Given the description of an element on the screen output the (x, y) to click on. 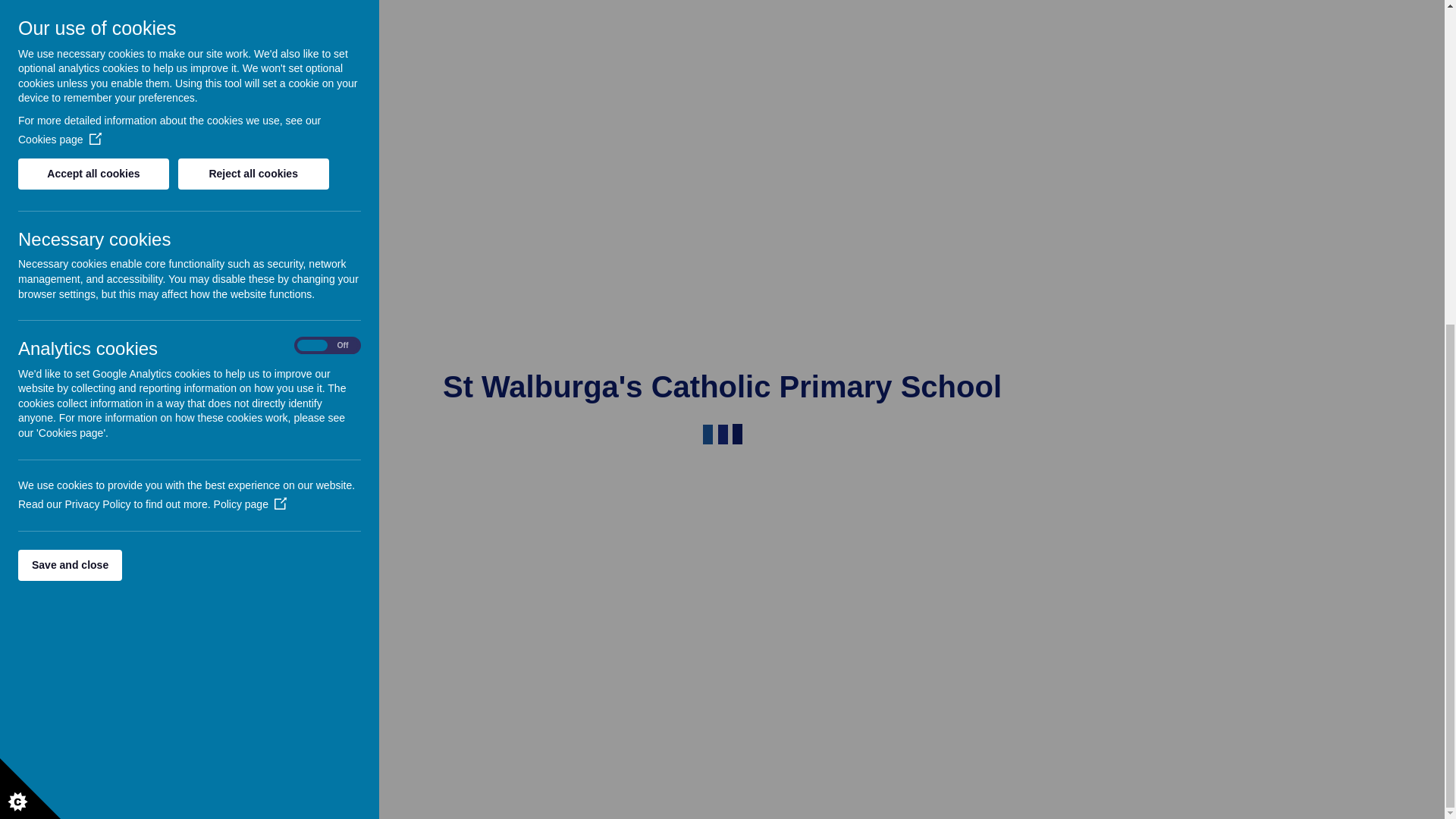
Cookie Control Icon (30, 258)
Fullscreen (1364, 308)
Mute (1345, 308)
